Given the description of an element on the screen output the (x, y) to click on. 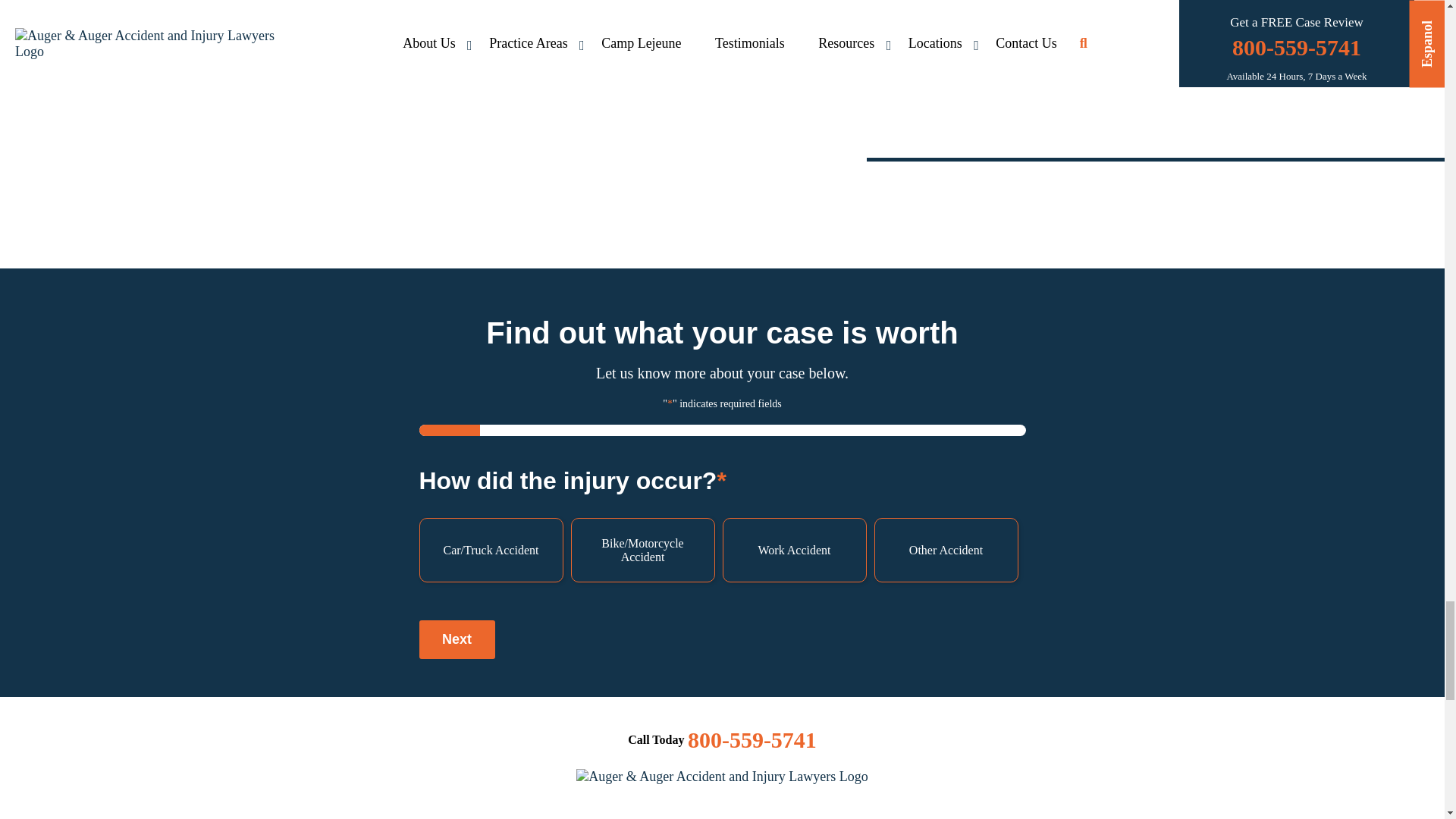
Facebook (683, 813)
Linkedin (761, 813)
Google Plus (734, 813)
Next (457, 639)
Twitter (709, 813)
